Given the description of an element on the screen output the (x, y) to click on. 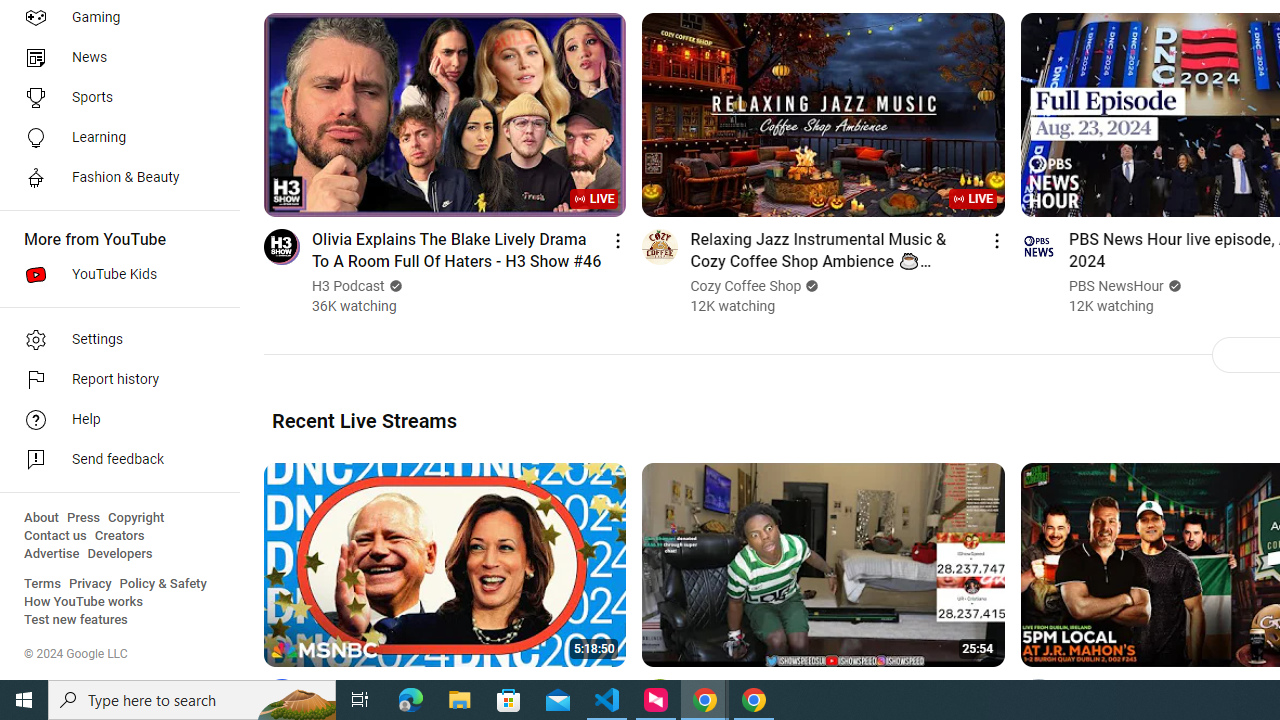
Press (83, 518)
How YouTube works (83, 602)
Settings (113, 339)
Contact us (55, 536)
Cozy Coffee Shop (745, 285)
About (41, 518)
YouTube Kids (113, 274)
Recent Live Streams (363, 420)
Go to channel (1038, 696)
Advertise (51, 554)
Sports (113, 97)
Report history (113, 380)
Copyright (136, 518)
News (113, 57)
H3 Podcast (349, 285)
